Given the description of an element on the screen output the (x, y) to click on. 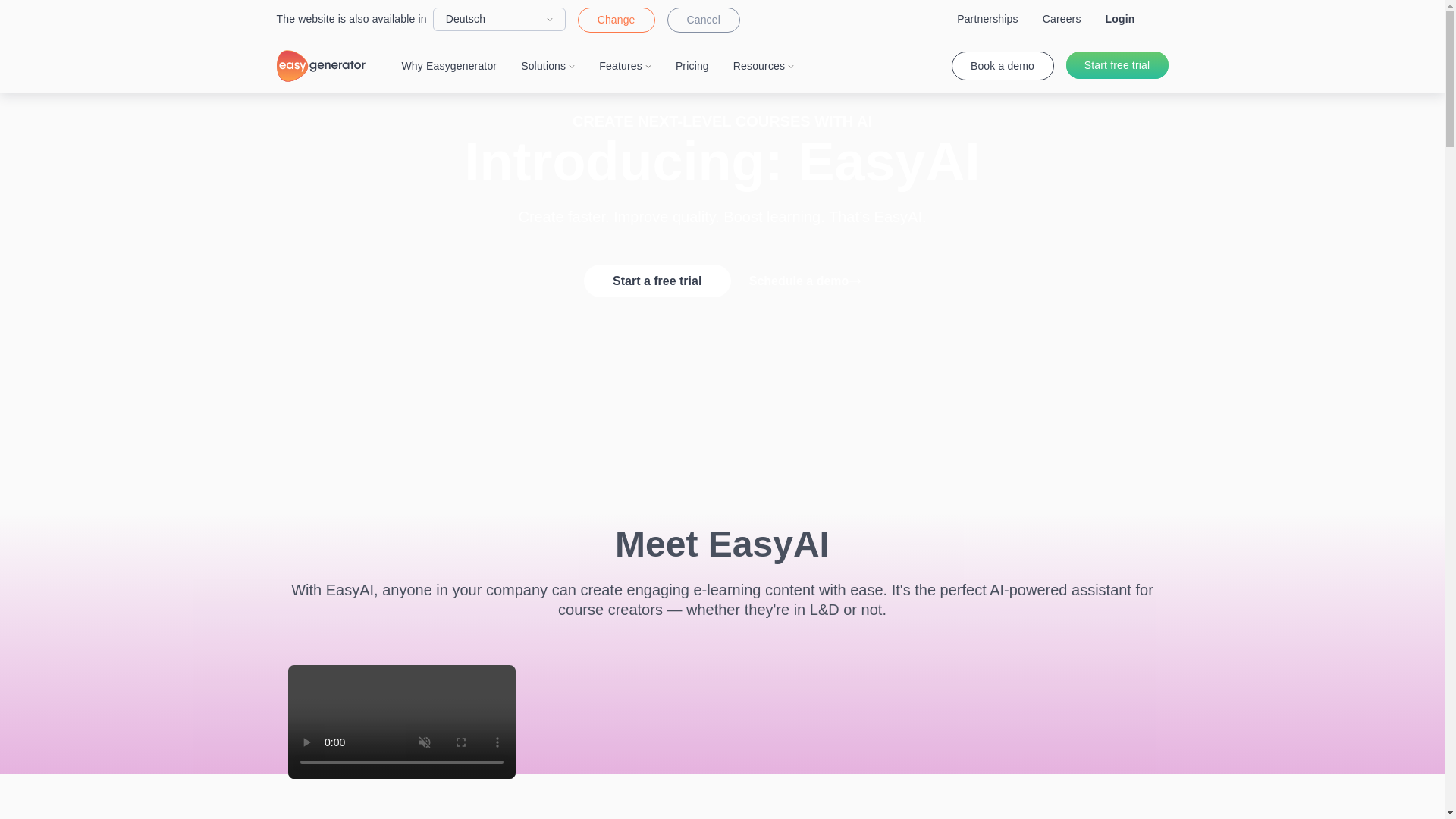
Careers (1061, 19)
Features (624, 65)
Cancel (702, 19)
Pricing (692, 65)
Partnerships (986, 19)
Book a demo (1001, 65)
Why Easygenerator (449, 65)
Login (1120, 19)
Change (616, 19)
Start free trial (1117, 64)
Solutions (548, 65)
Resources (763, 65)
